Given the description of an element on the screen output the (x, y) to click on. 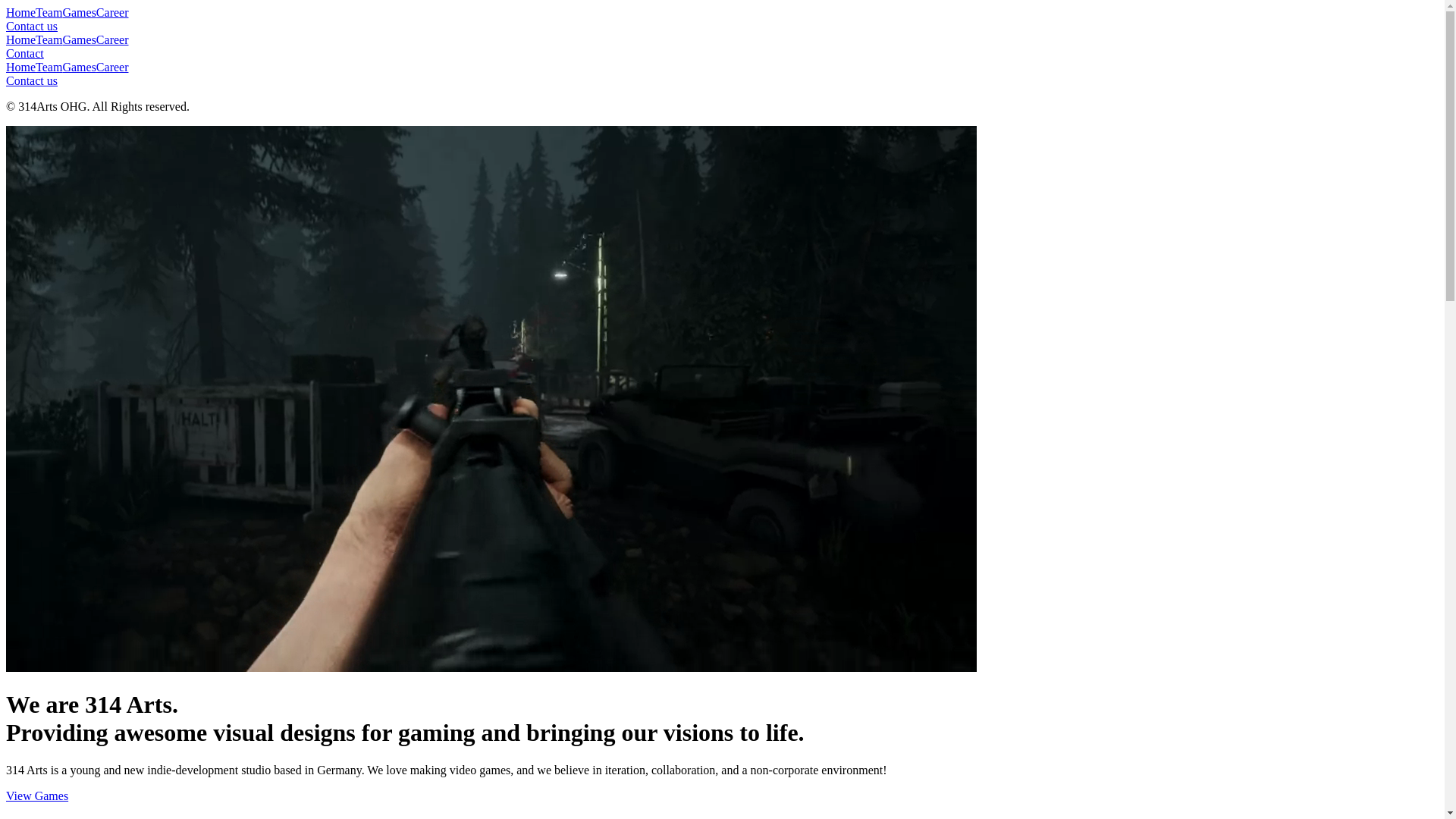
Home Element type: text (20, 39)
Home Element type: text (20, 12)
View Games Element type: text (722, 796)
Home Element type: text (20, 66)
Games Element type: text (78, 12)
Team Element type: text (48, 66)
Team Element type: text (48, 39)
Career Element type: text (112, 12)
Contact us Element type: text (722, 80)
Games Element type: text (78, 66)
Contact Element type: text (722, 53)
Career Element type: text (112, 39)
Games Element type: text (78, 39)
Contact us Element type: text (722, 33)
Team Element type: text (48, 12)
Career Element type: text (112, 66)
